Given the description of an element on the screen output the (x, y) to click on. 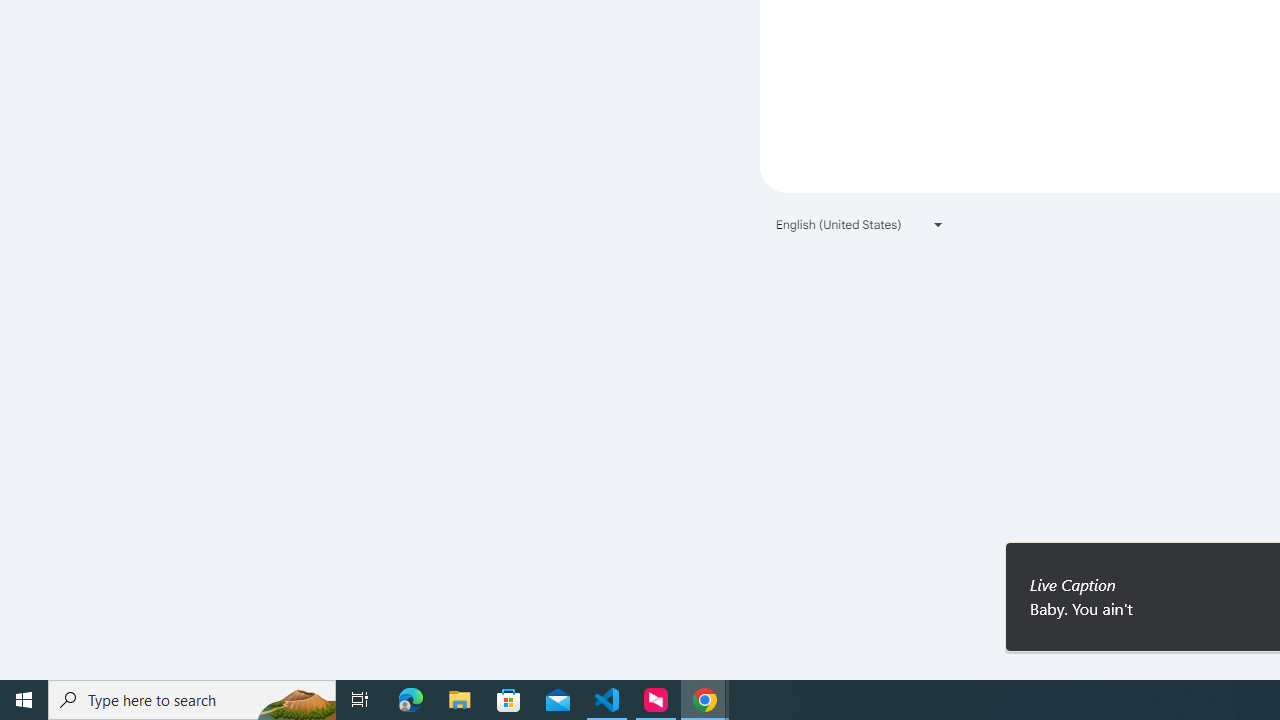
English (United States) (860, 224)
